Given the description of an element on the screen output the (x, y) to click on. 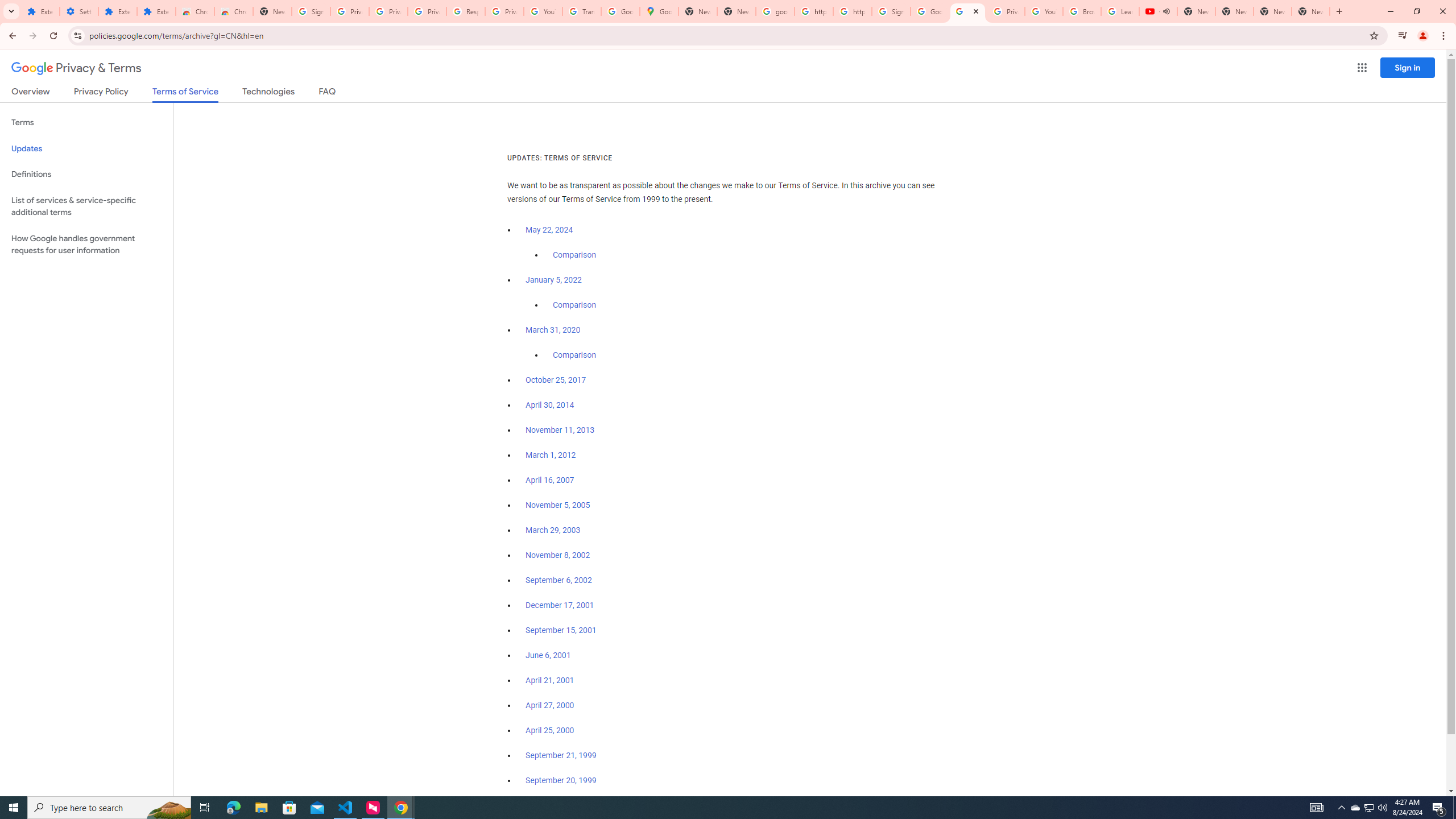
Sign in - Google Accounts (890, 11)
New Tab (272, 11)
April 16, 2007 (550, 480)
November 8, 2002 (557, 555)
Chrome Web Store (194, 11)
